Given the description of an element on the screen output the (x, y) to click on. 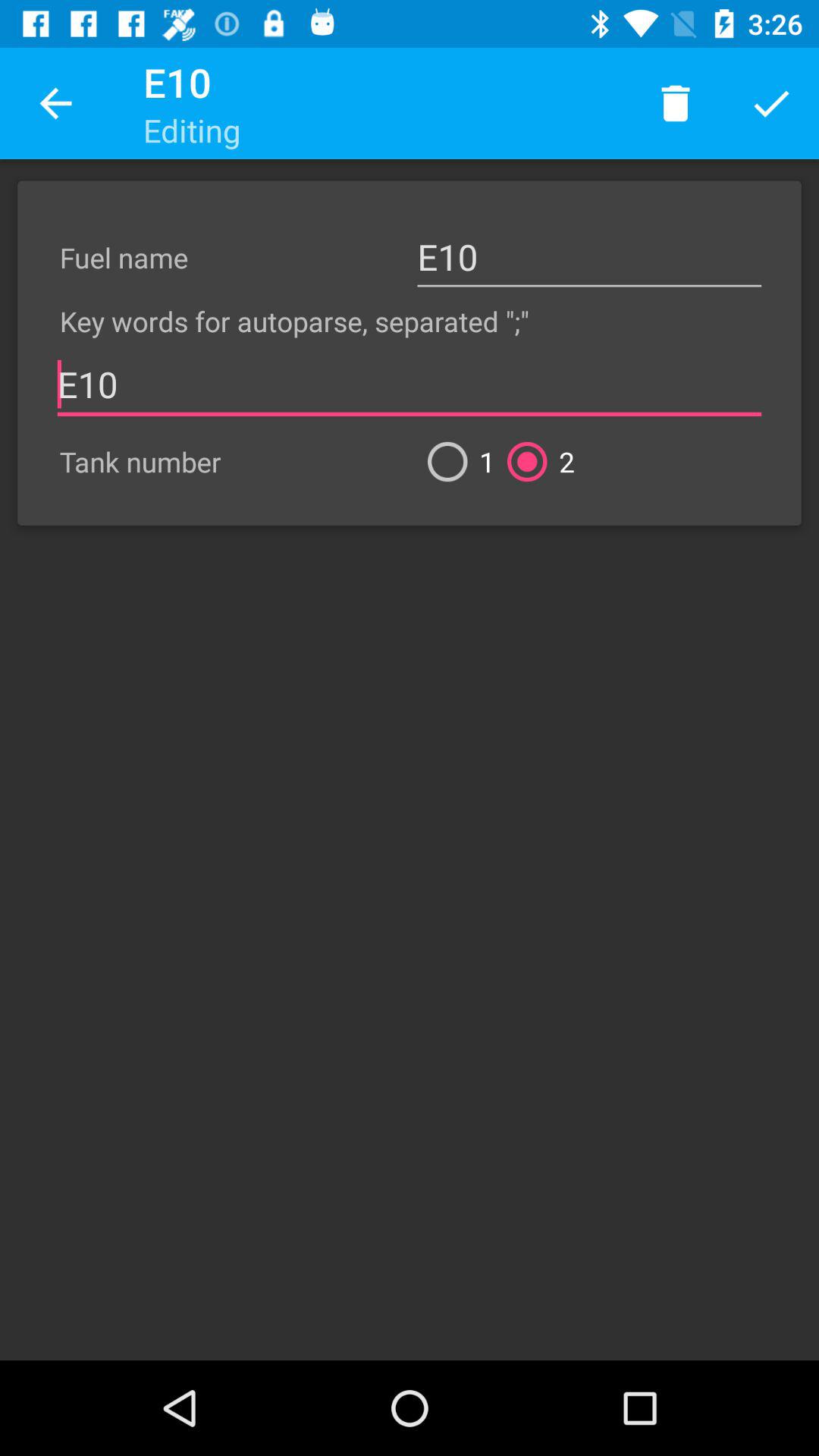
choose the icon below e10 item (455, 461)
